Given the description of an element on the screen output the (x, y) to click on. 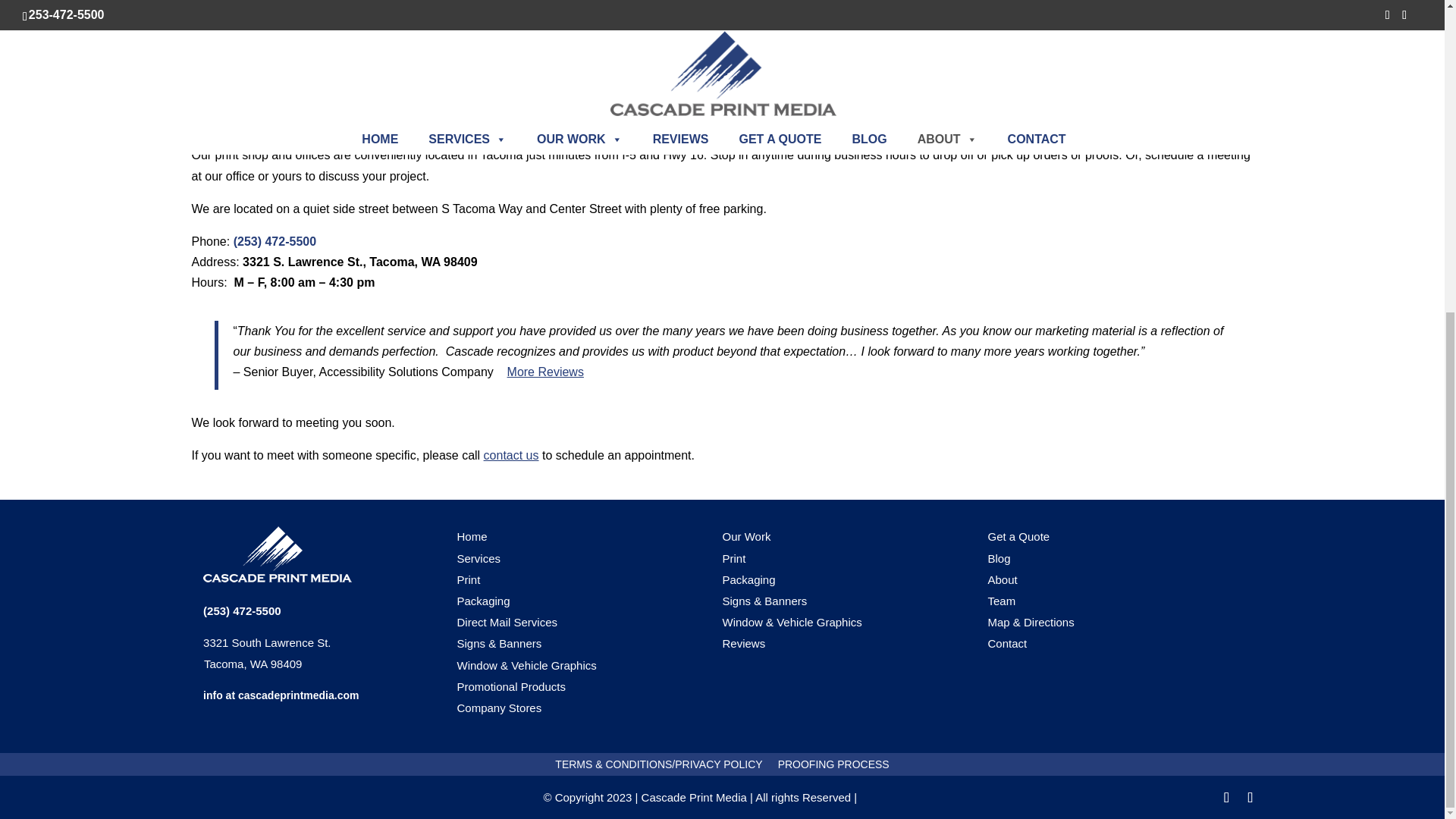
contact us (260, 653)
Print (510, 454)
Packaging (468, 579)
Cascade Print Media - Logo (483, 600)
Services (277, 554)
Home (478, 558)
More Reviews (471, 535)
